Given the description of an element on the screen output the (x, y) to click on. 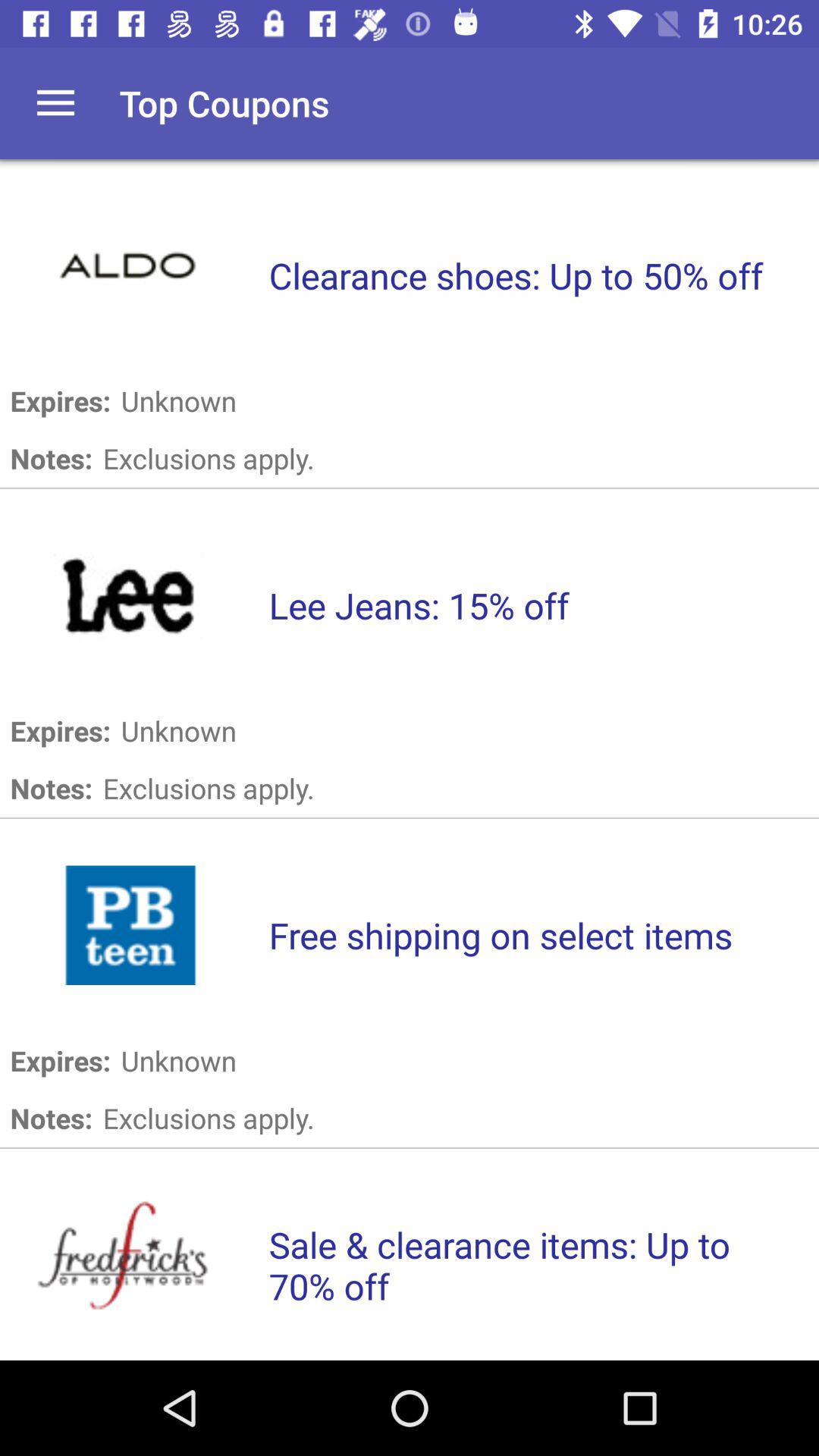
choose item next to top coupons (55, 103)
